Given the description of an element on the screen output the (x, y) to click on. 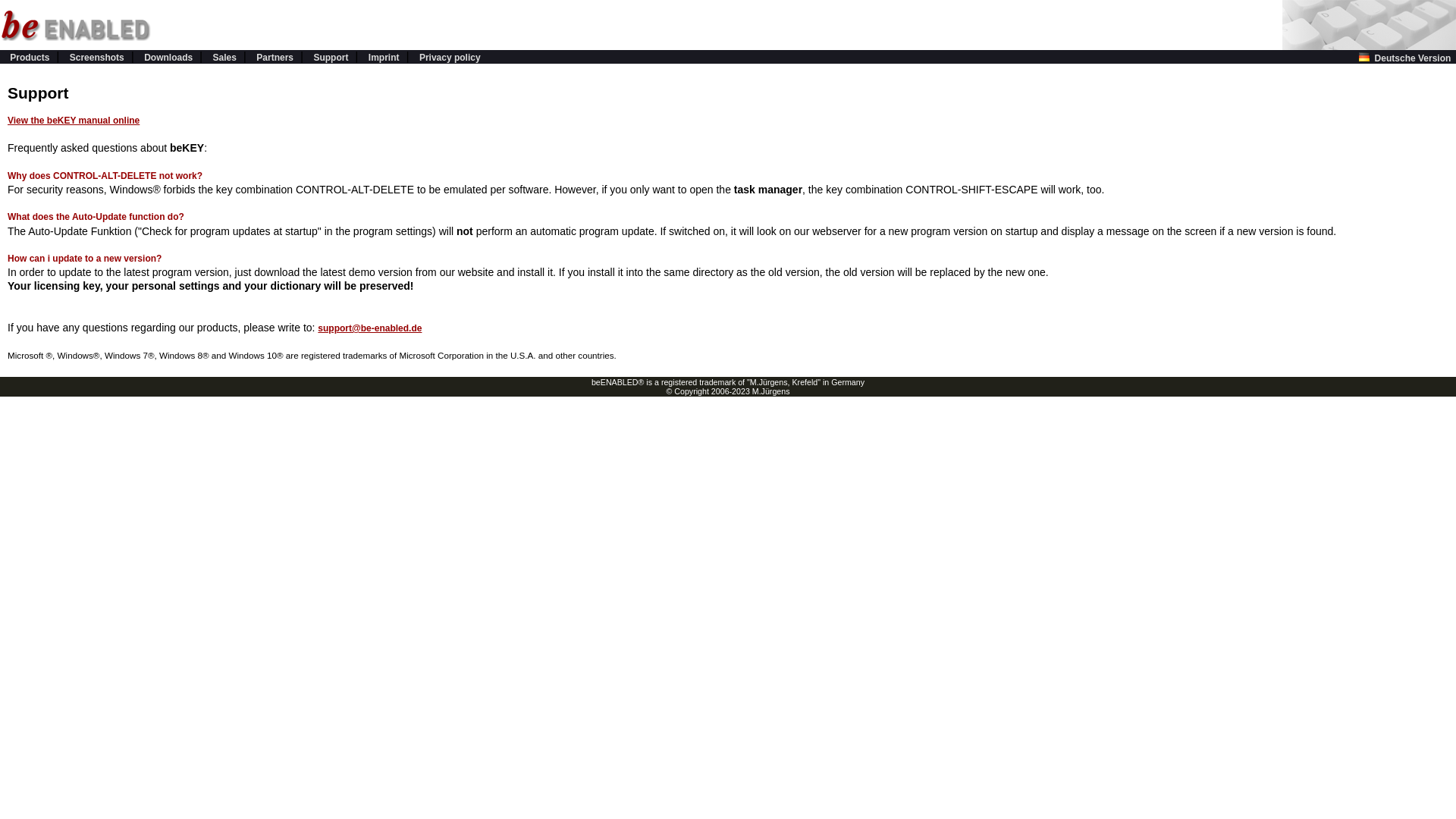
Downloads (168, 57)
Products (29, 57)
How can i update to a new version? (84, 258)
Partners (275, 57)
View the beKEY manual online (73, 120)
Sales (223, 57)
Privacy policy (449, 57)
Support (330, 57)
What does the Auto-Update function do? (95, 216)
Why does CONTROL-ALT-DELETE not work? (104, 175)
Imprint (383, 57)
Screenshots (96, 57)
